Given the description of an element on the screen output the (x, y) to click on. 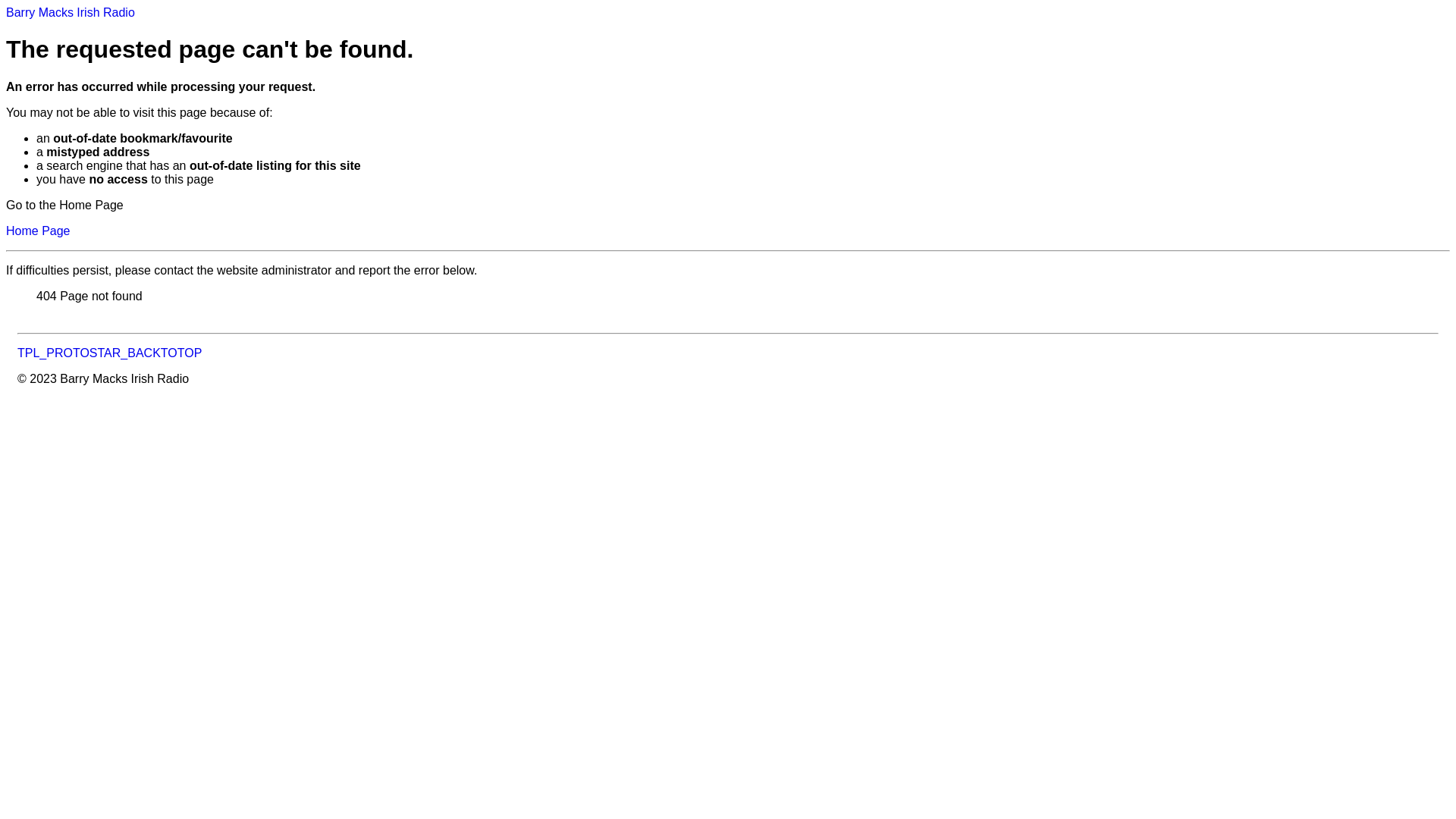
Home Page Element type: text (38, 230)
Barry Macks Irish Radio Element type: text (70, 12)
TPL_PROTOSTAR_BACKTOTOP Element type: text (109, 352)
